Given the description of an element on the screen output the (x, y) to click on. 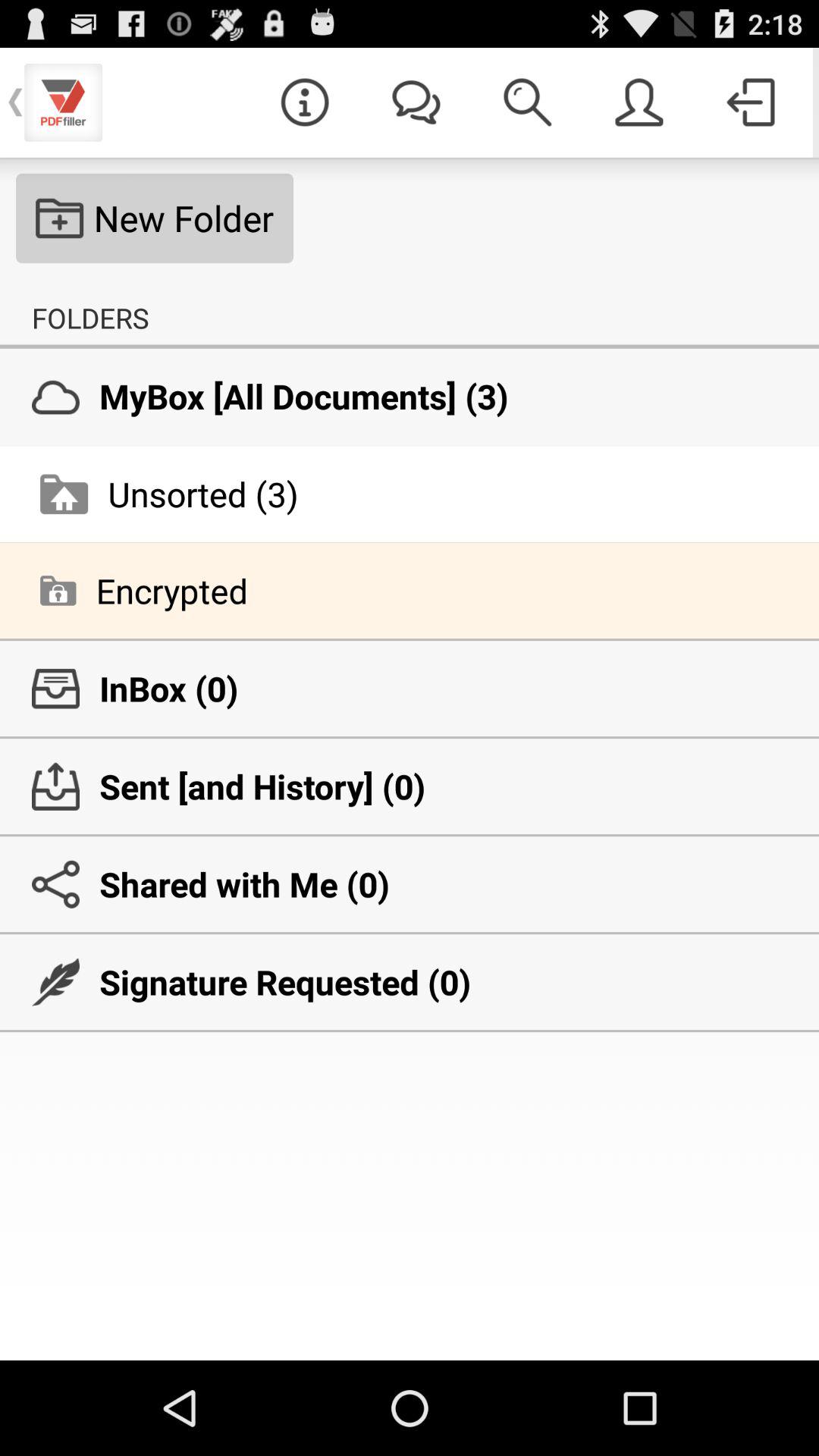
scroll until mybox all documents icon (409, 396)
